Given the description of an element on the screen output the (x, y) to click on. 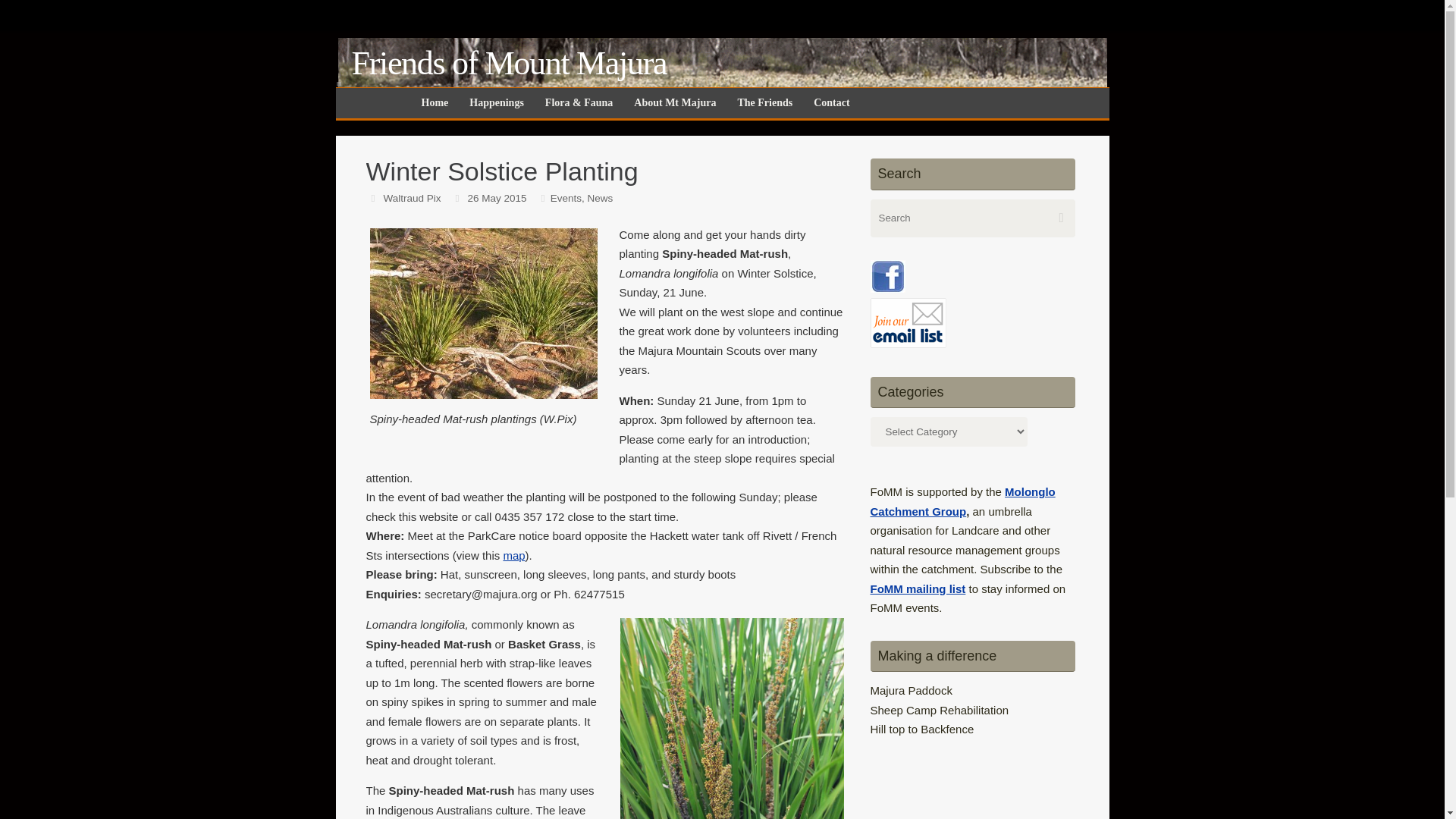
The Friends (767, 102)
Categories (542, 197)
Friends of Mount Majura (721, 78)
Date (456, 197)
About Mt Majura (677, 102)
Home (438, 102)
Like us on Facebook (887, 276)
Friends of Mount Majura (509, 63)
View all posts by Waltraud Pix (411, 197)
Join email list (908, 323)
